Given the description of an element on the screen output the (x, y) to click on. 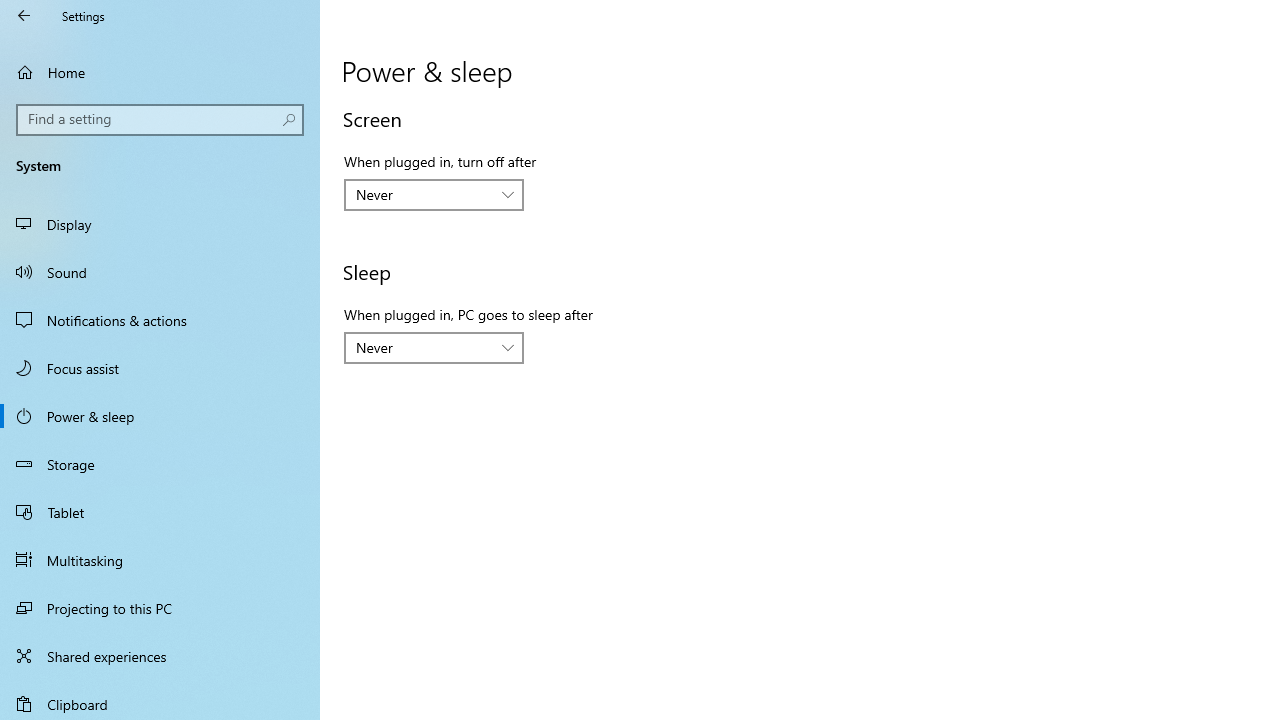
Storage (160, 463)
Projecting to this PC (160, 607)
Multitasking (160, 559)
When plugged in, turn off after (433, 194)
When plugged in, PC goes to sleep after (433, 347)
Display (160, 223)
Home (160, 71)
Tablet (160, 511)
Focus assist (160, 367)
Power & sleep (160, 415)
Shared experiences (160, 655)
Search box, Find a setting (160, 119)
Notifications & actions (160, 319)
Sound (160, 271)
Never (423, 347)
